Given the description of an element on the screen output the (x, y) to click on. 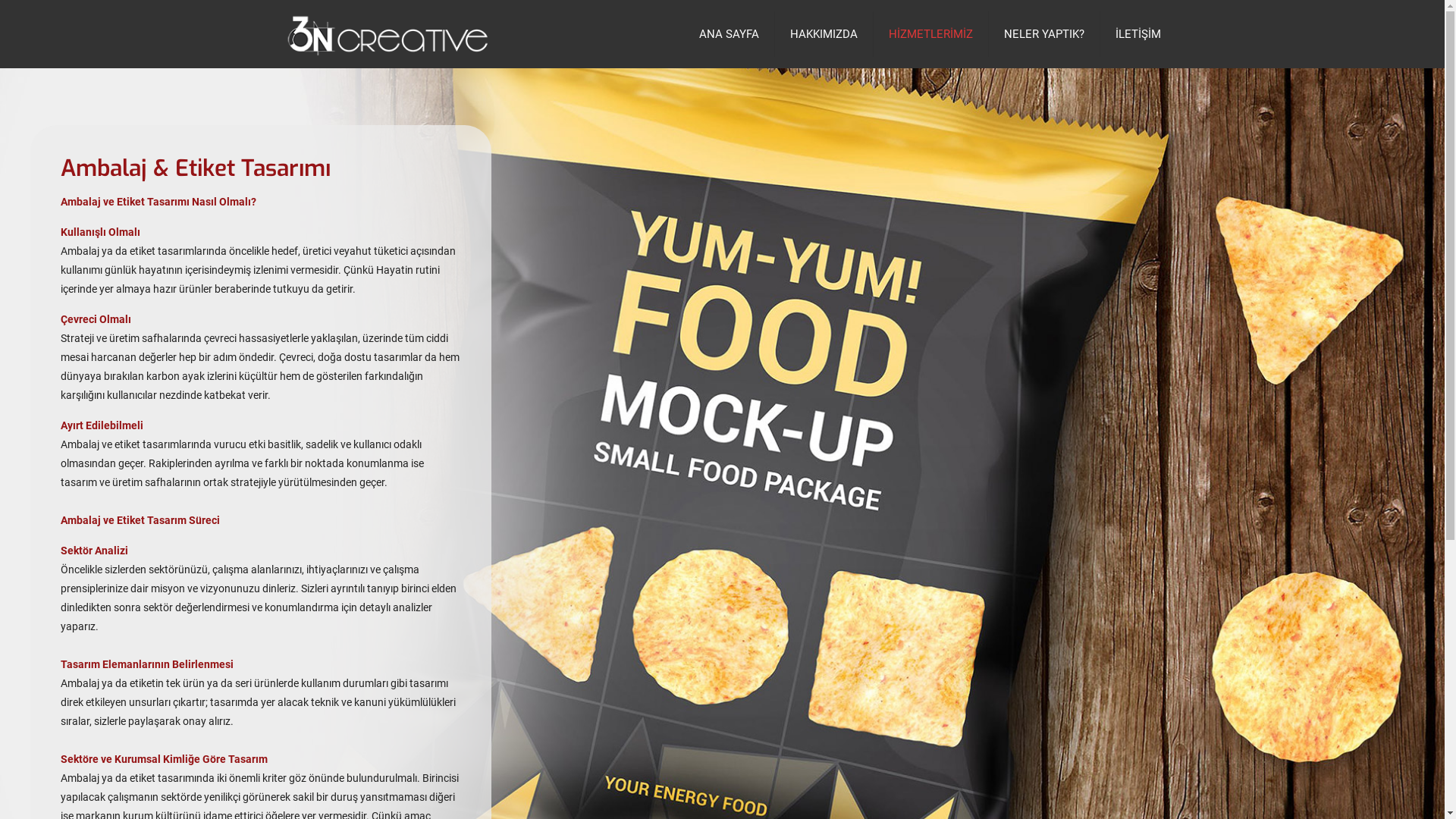
ANA SAYFA Element type: text (729, 34)
HAKKIMIZDA Element type: text (824, 34)
NELER YAPTIK? Element type: text (1044, 34)
